Given the description of an element on the screen output the (x, y) to click on. 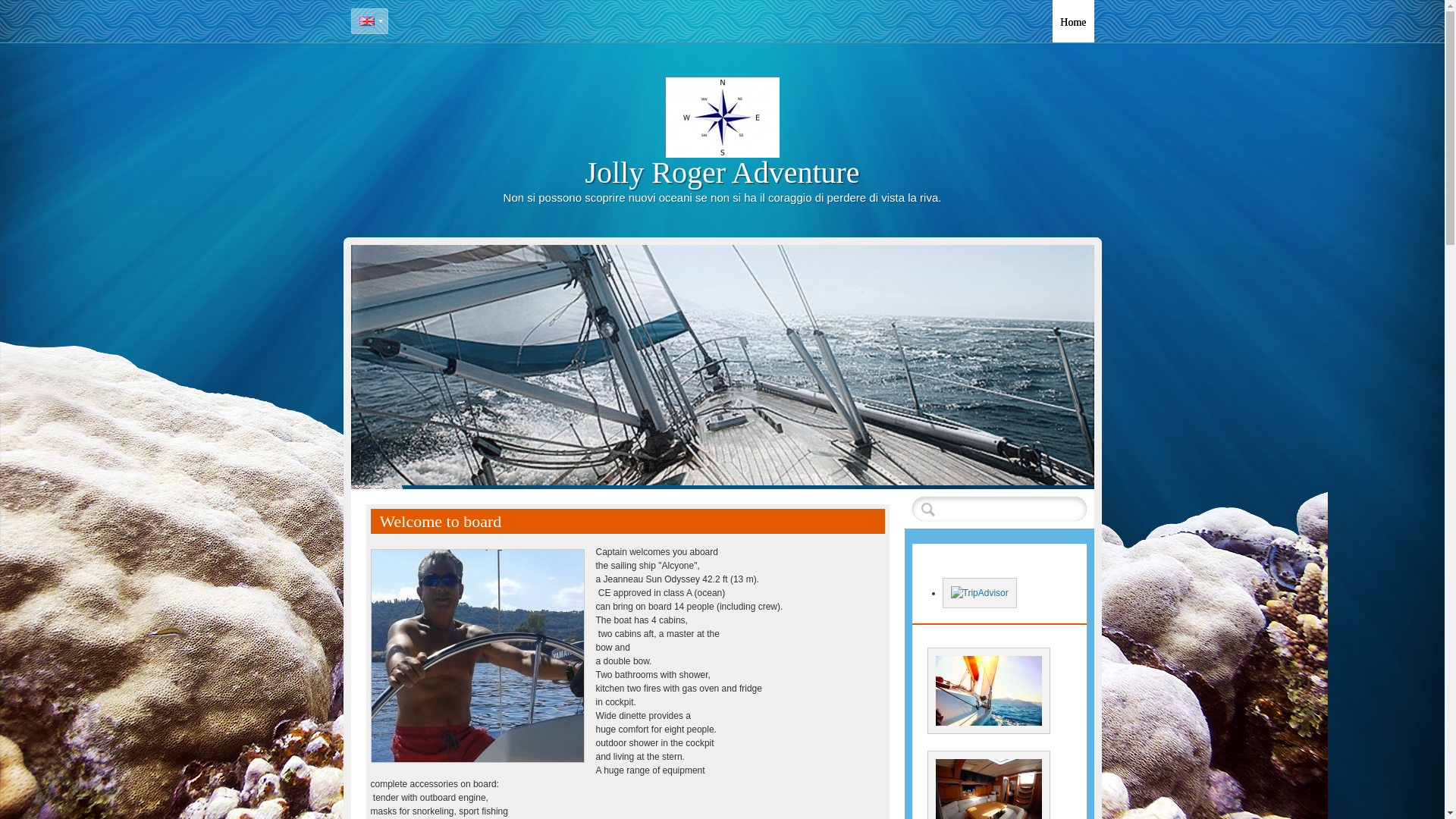
invia (927, 508)
Jolly Roger Adventure (722, 172)
Home (1072, 21)
invia (927, 508)
 - Jolly Roger Adventure (1072, 21)
